Given the description of an element on the screen output the (x, y) to click on. 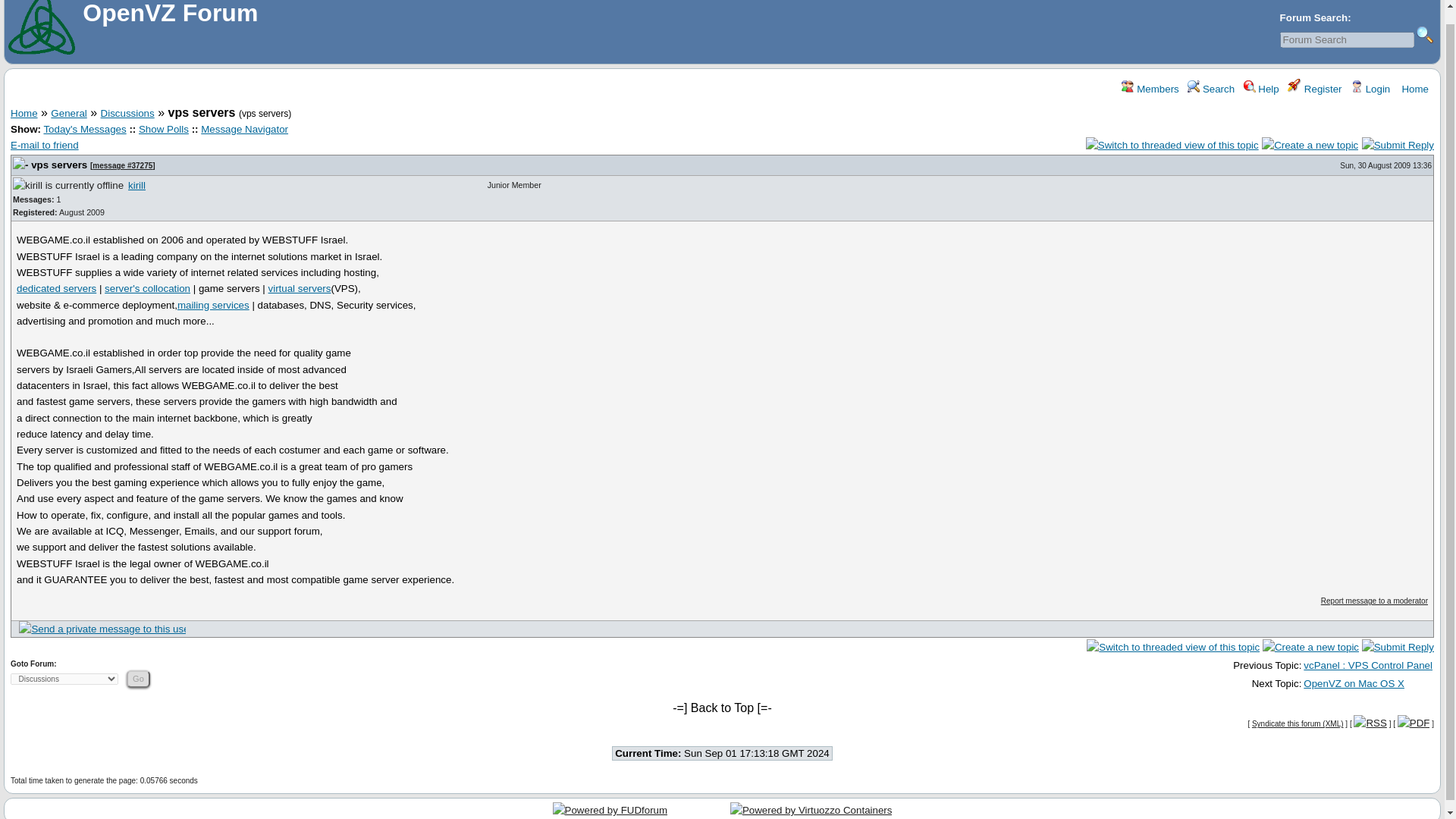
Help (1261, 89)
Register (1313, 89)
Go (137, 679)
Home (1413, 89)
Members (1149, 89)
mailing services (212, 305)
Today's Messages (84, 129)
OpenVZ Forum (169, 17)
Login (1370, 89)
Message Navigator (244, 129)
